Given the description of an element on the screen output the (x, y) to click on. 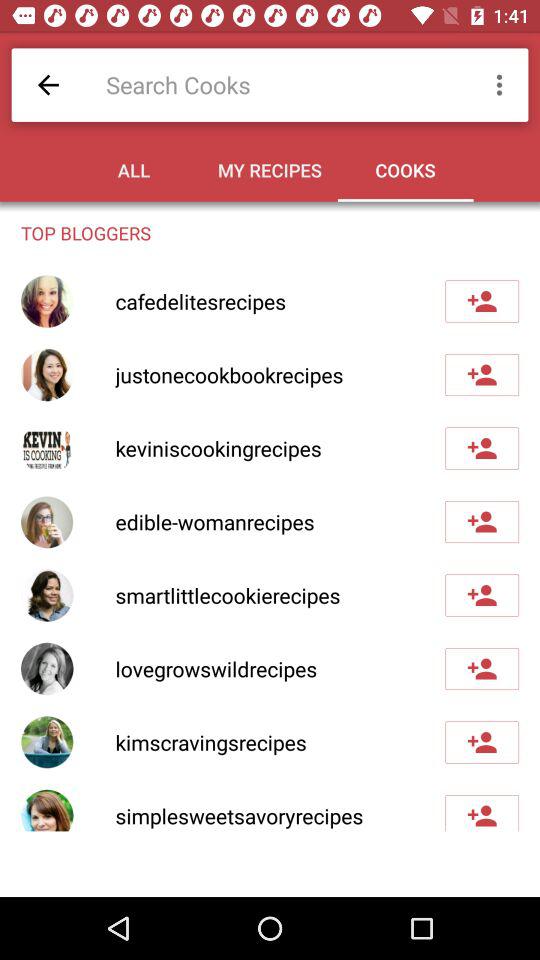
add user to your list (482, 813)
